Given the description of an element on the screen output the (x, y) to click on. 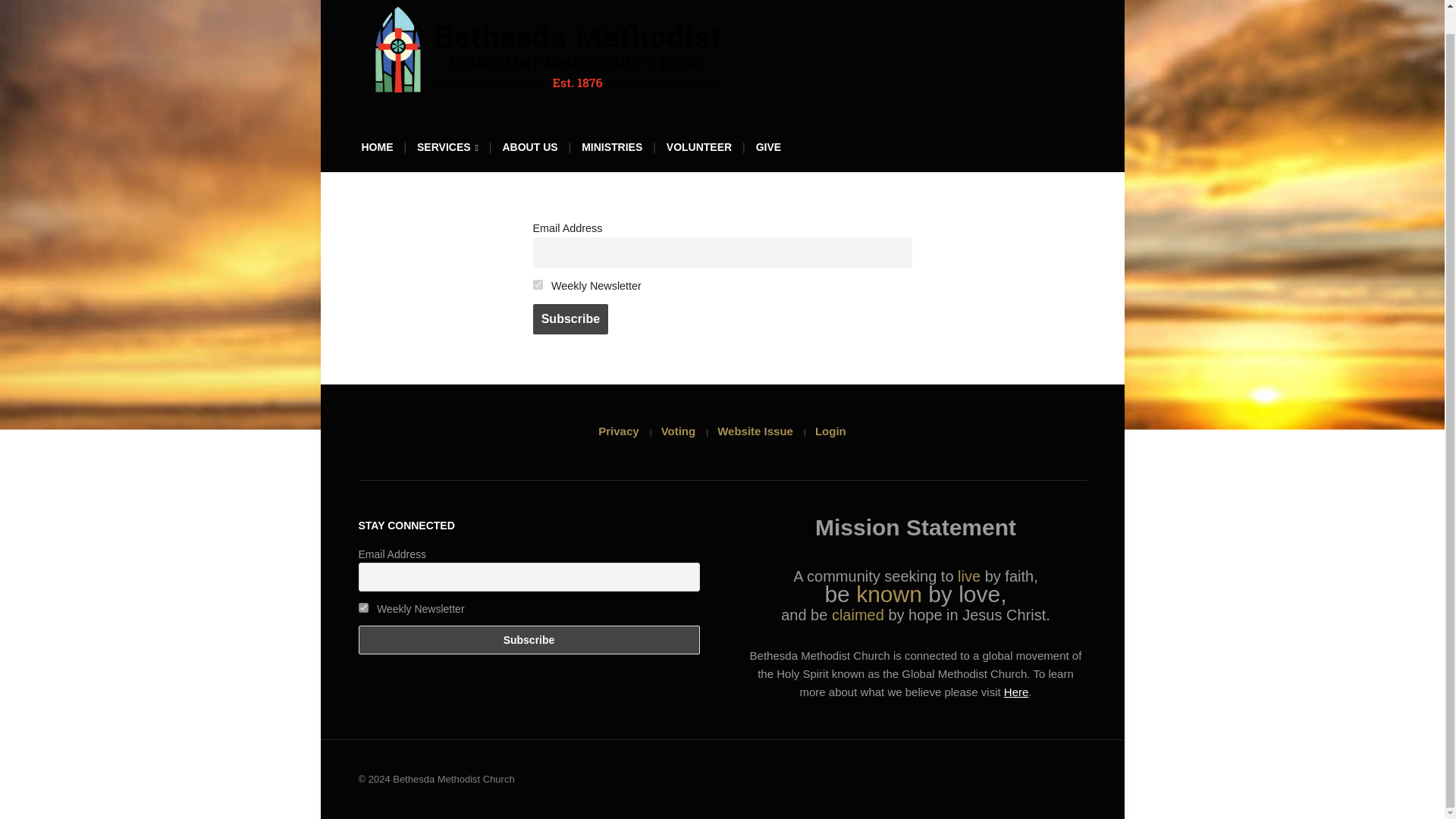
Subscribe (570, 318)
Subscribe (528, 639)
Here (1016, 691)
HOME (377, 151)
2 (536, 284)
ABOUT US (529, 151)
SERVICES (447, 151)
Voting (678, 431)
Privacy (618, 431)
2 (363, 606)
